Given the description of an element on the screen output the (x, y) to click on. 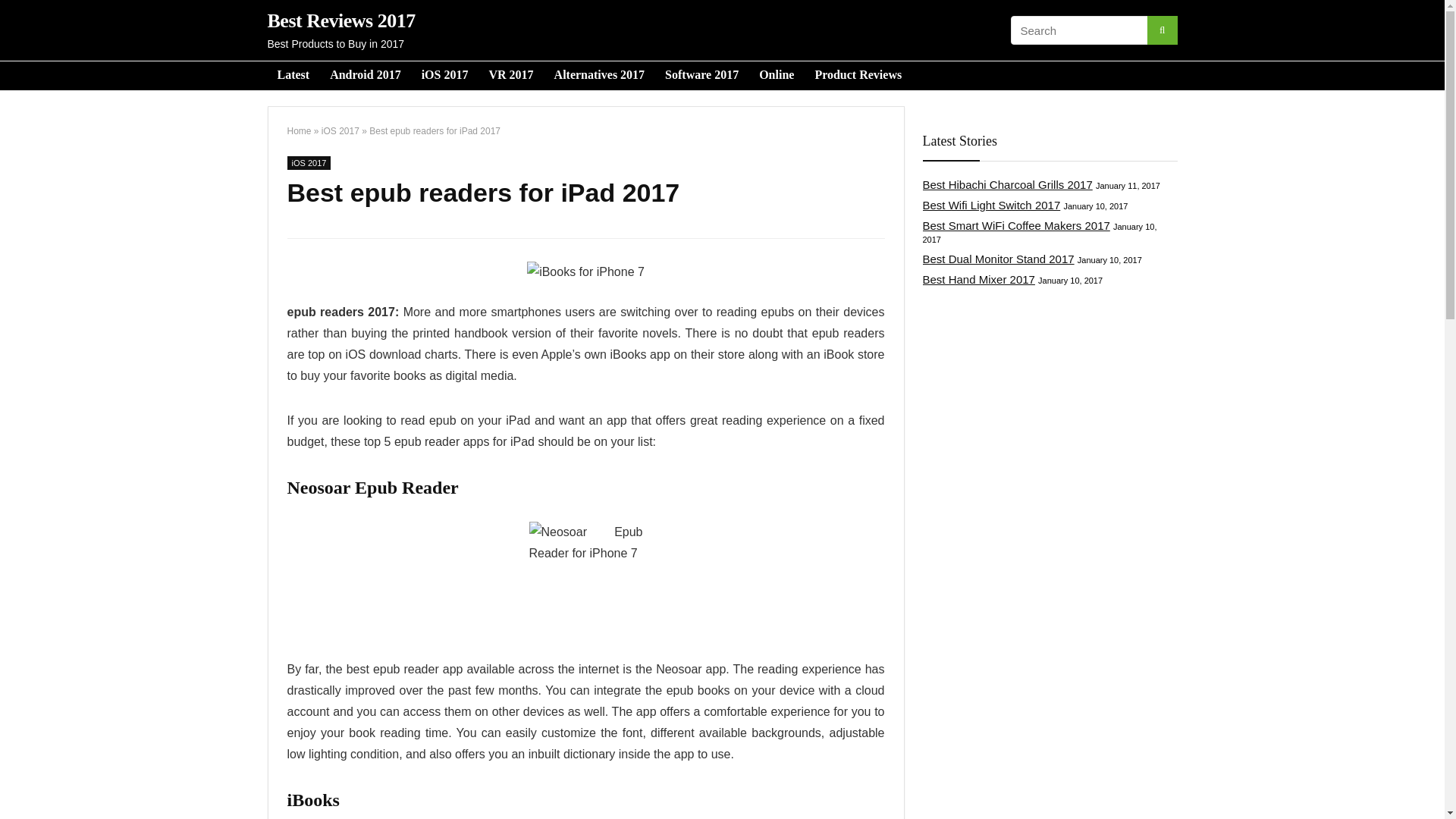
VR 2017 (511, 75)
Best Dual Monitor Stand 2017 (997, 258)
Alternatives 2017 (599, 75)
Home (298, 131)
iOS 2017 (308, 162)
Best Hand Mixer 2017 (977, 278)
Latest (292, 75)
Best Wifi Light Switch 2017 (990, 205)
Best Smart WiFi Coffee Makers 2017 (1015, 225)
View all posts in iOS 2017 (308, 162)
iOS 2017 (445, 75)
Best Hibachi Charcoal Grills 2017 (1006, 184)
Online (776, 75)
iOS 2017 (340, 131)
Software 2017 (701, 75)
